Given the description of an element on the screen output the (x, y) to click on. 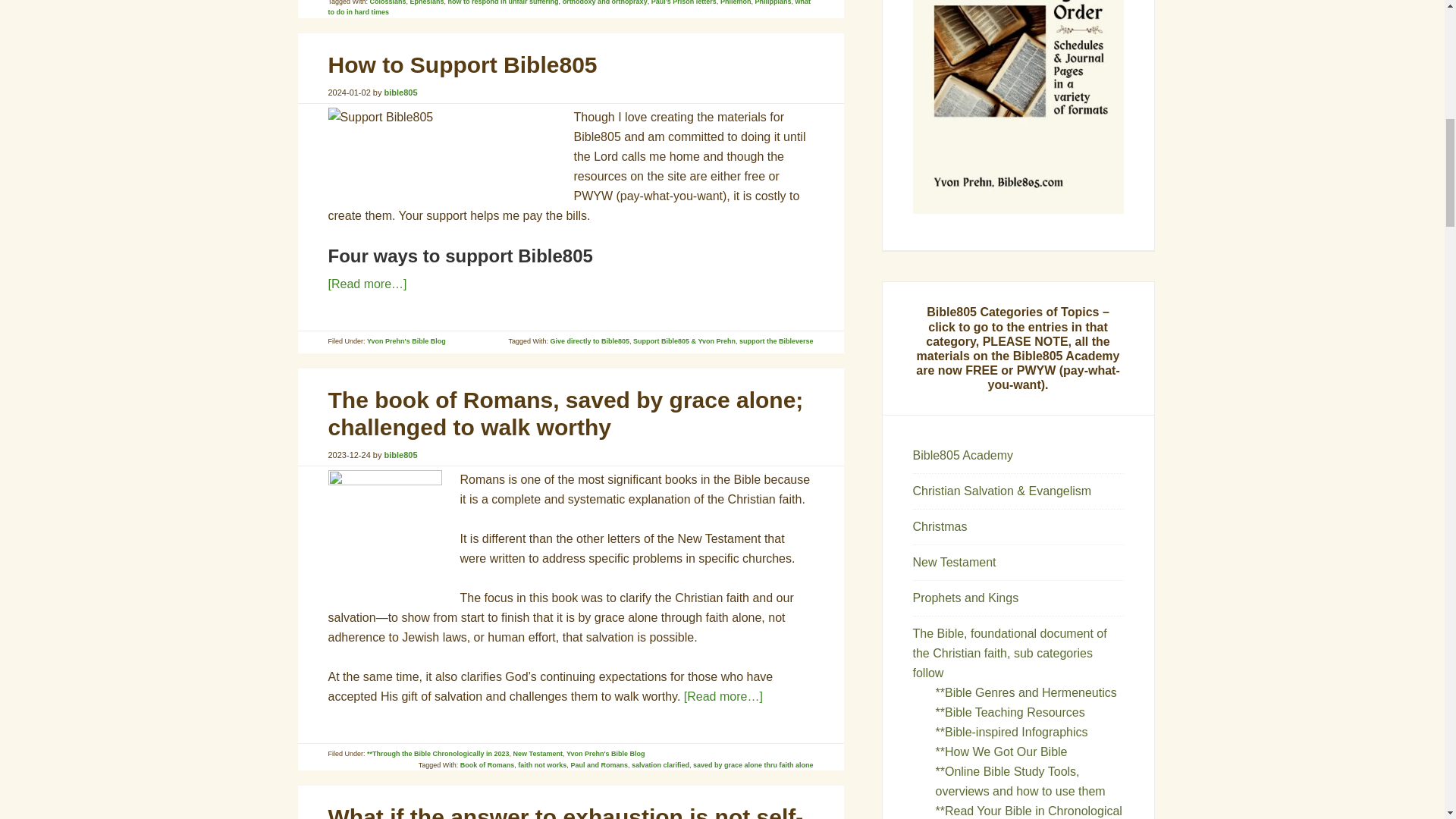
Philippians (772, 2)
Yvon Prehn's Bible Blog (405, 340)
Philemon (735, 2)
bible805 (400, 92)
how to respond in unfair suffering (503, 2)
bible805 (400, 454)
Book of Romans (487, 765)
Paul and Romans (598, 765)
Yvon Prehn's Bible Blog (605, 753)
support the Bibleverse (776, 340)
what to do in hard times (568, 7)
Colossians (387, 2)
saved by grace alone thru faith alone (753, 765)
New Testament (537, 753)
